Given the description of an element on the screen output the (x, y) to click on. 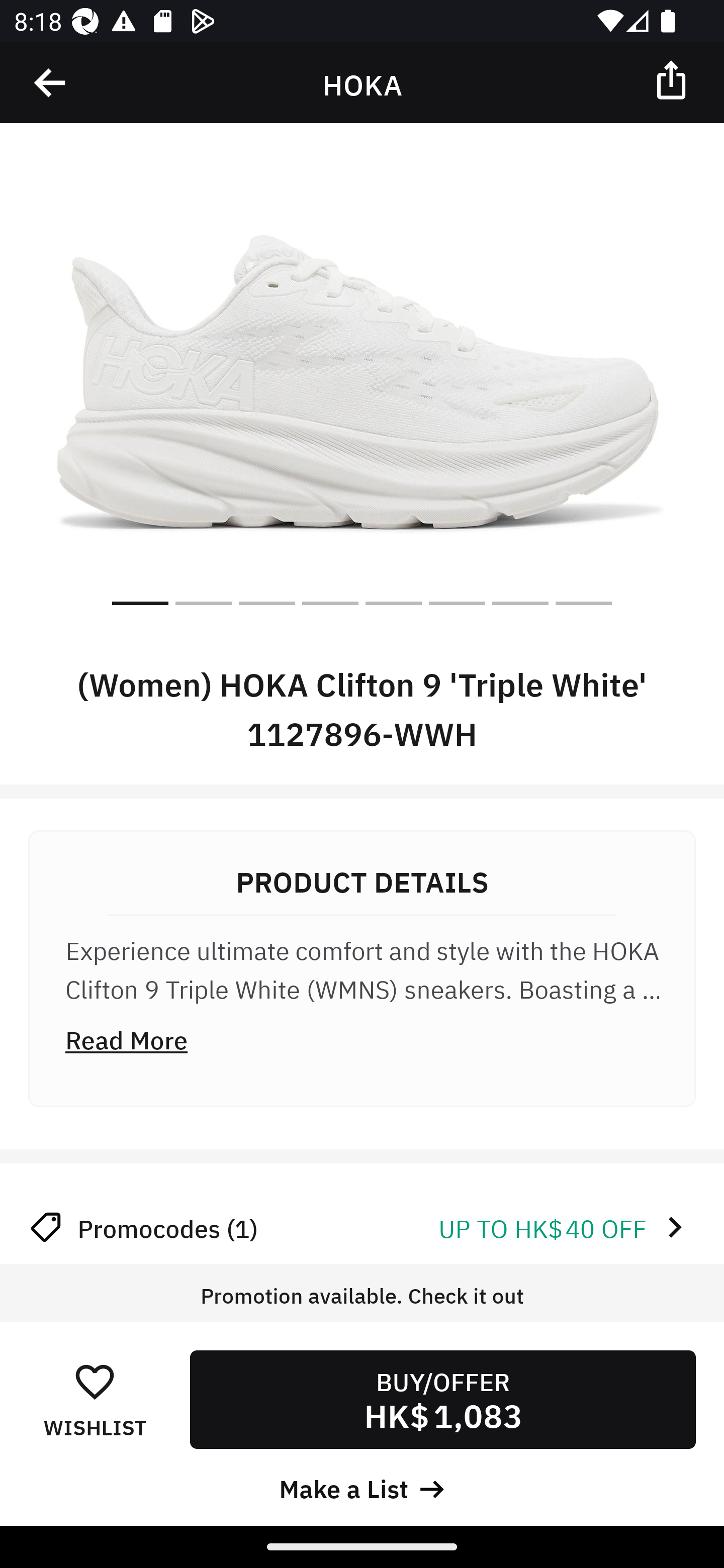
 (50, 83)
 (672, 79)
Promocodes (1) UP TO HK$ 40 OFF  (361, 1226)
BUY/OFFER HK$ 1,083 (442, 1399)
󰋕 (94, 1380)
Make a List (361, 1486)
